Given the description of an element on the screen output the (x, y) to click on. 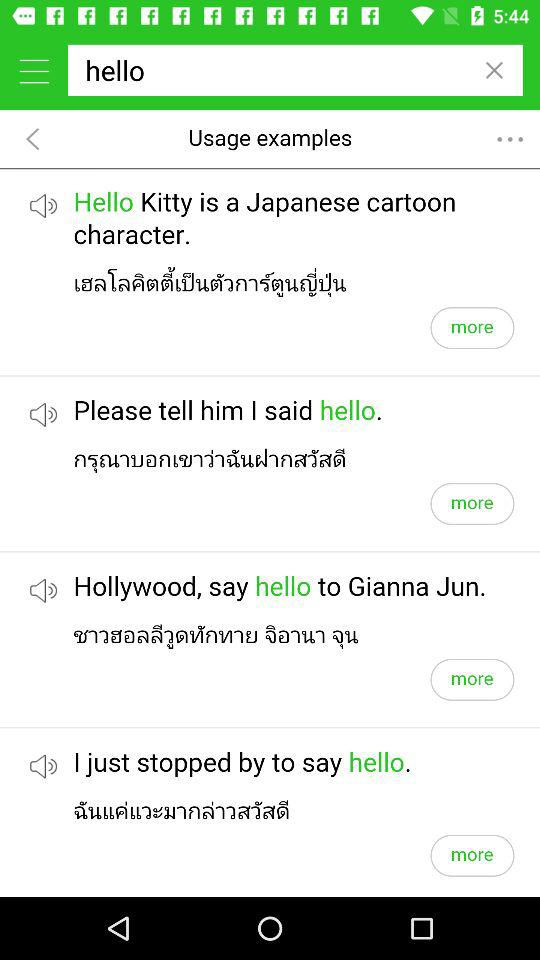
open menu (33, 70)
